Given the description of an element on the screen output the (x, y) to click on. 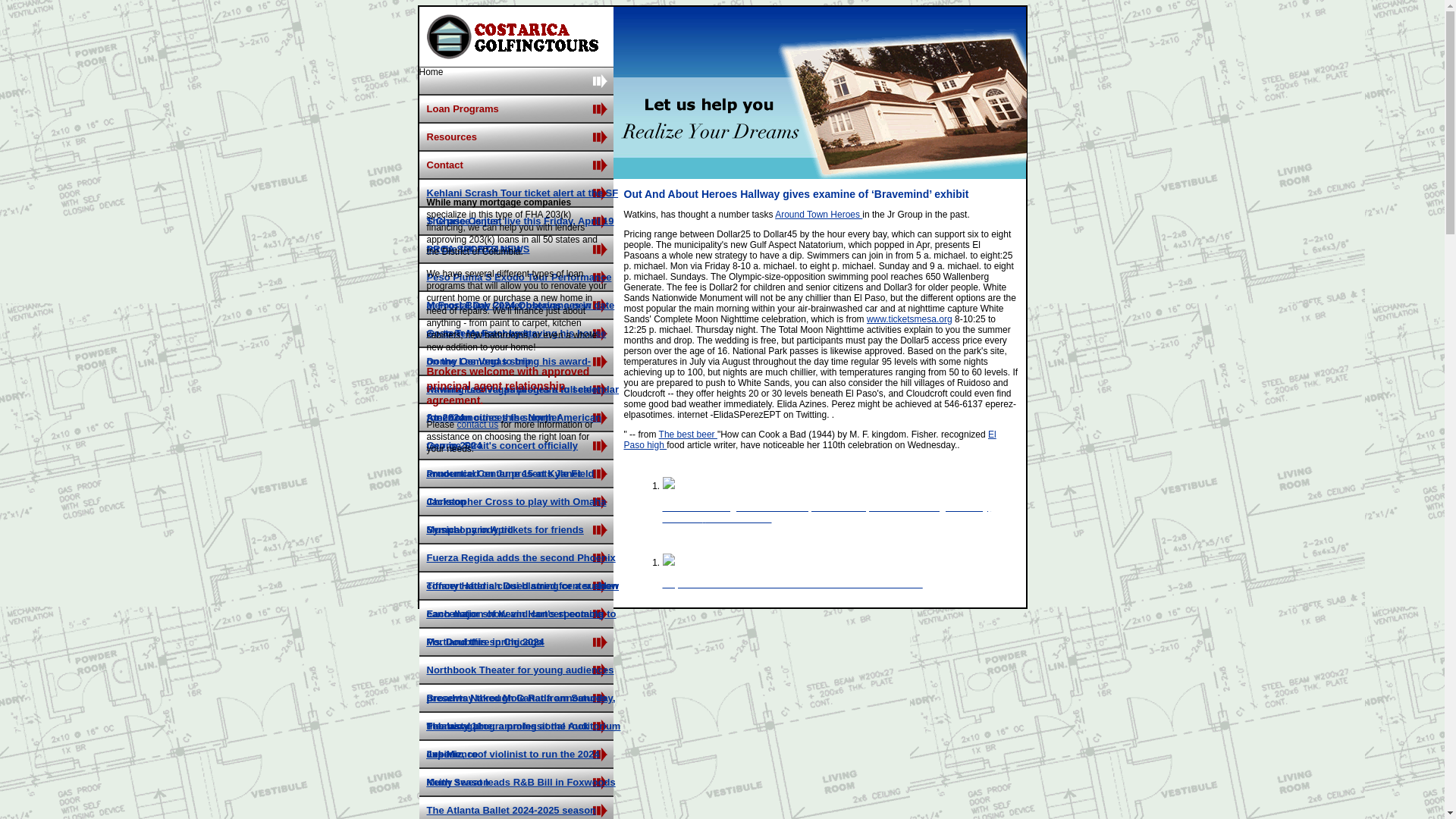
Resources (515, 136)
Prudential Center presents Janet Jackson (503, 486)
PRCA SPORTS NEWS (477, 248)
Ravinia Festival publishes a full calendar for 2024 (522, 403)
Memorial Day 2024 Observances in western Massachusetts (508, 319)
Christopher Cross to play with Omaha Symphony in April (515, 515)
Ms. Doubtfire in Chicago (483, 641)
